Given the description of an element on the screen output the (x, y) to click on. 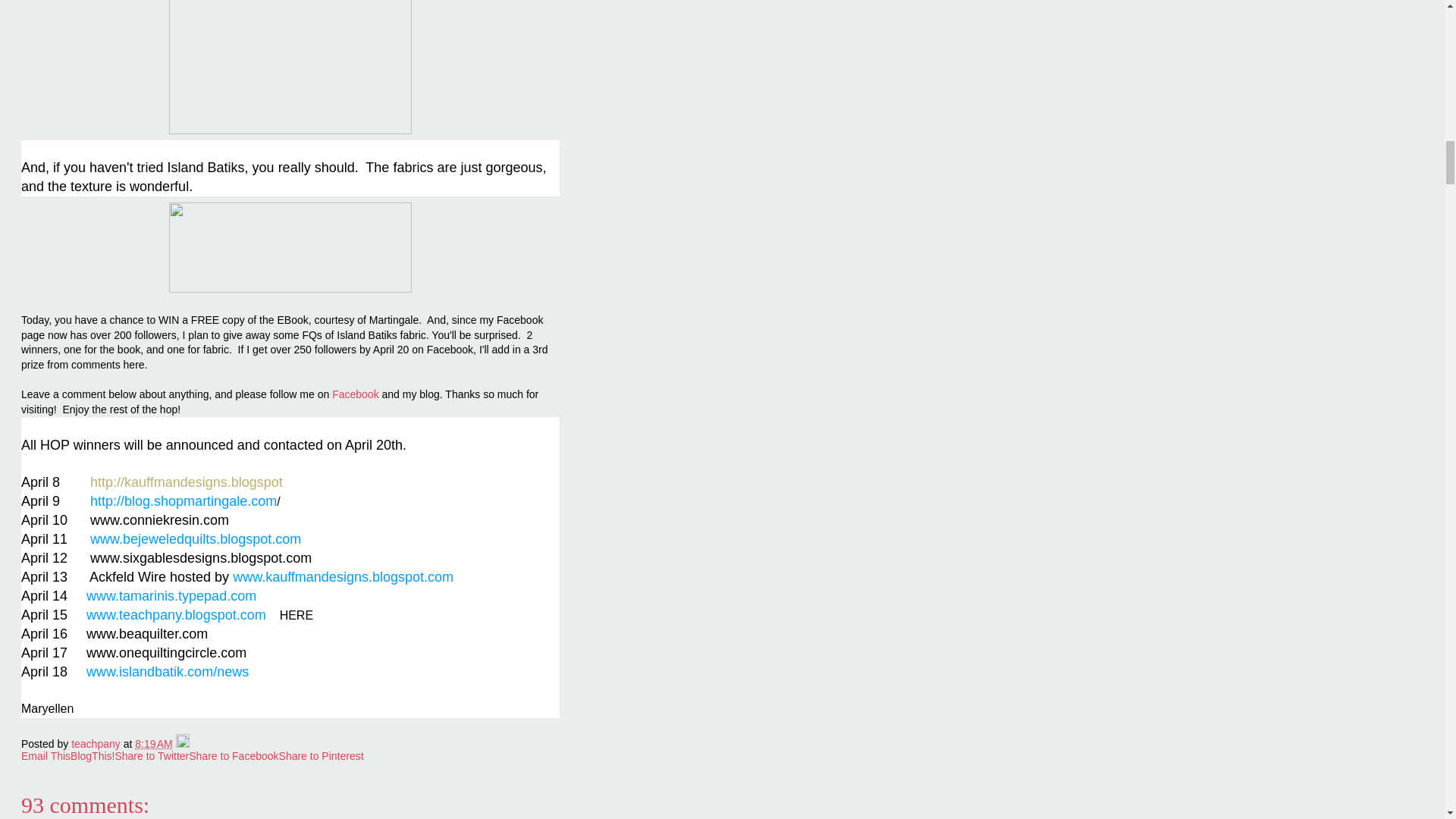
www.kauffmandesigns.blogspot.com (342, 576)
Share to Facebook (233, 756)
Share to Pinterest (321, 756)
www.conniekresin.com    (164, 520)
BlogThis! (92, 756)
Edit Post (182, 743)
www.bejeweledquilts.blogspot.com   (198, 539)
BlogThis! (92, 756)
www.tamarinis.typepad.com  (172, 595)
author profile (97, 743)
Email This (45, 756)
teachpany (97, 743)
www.onequiltingcircle.com    (171, 653)
Share to Twitter (152, 756)
